Given the description of an element on the screen output the (x, y) to click on. 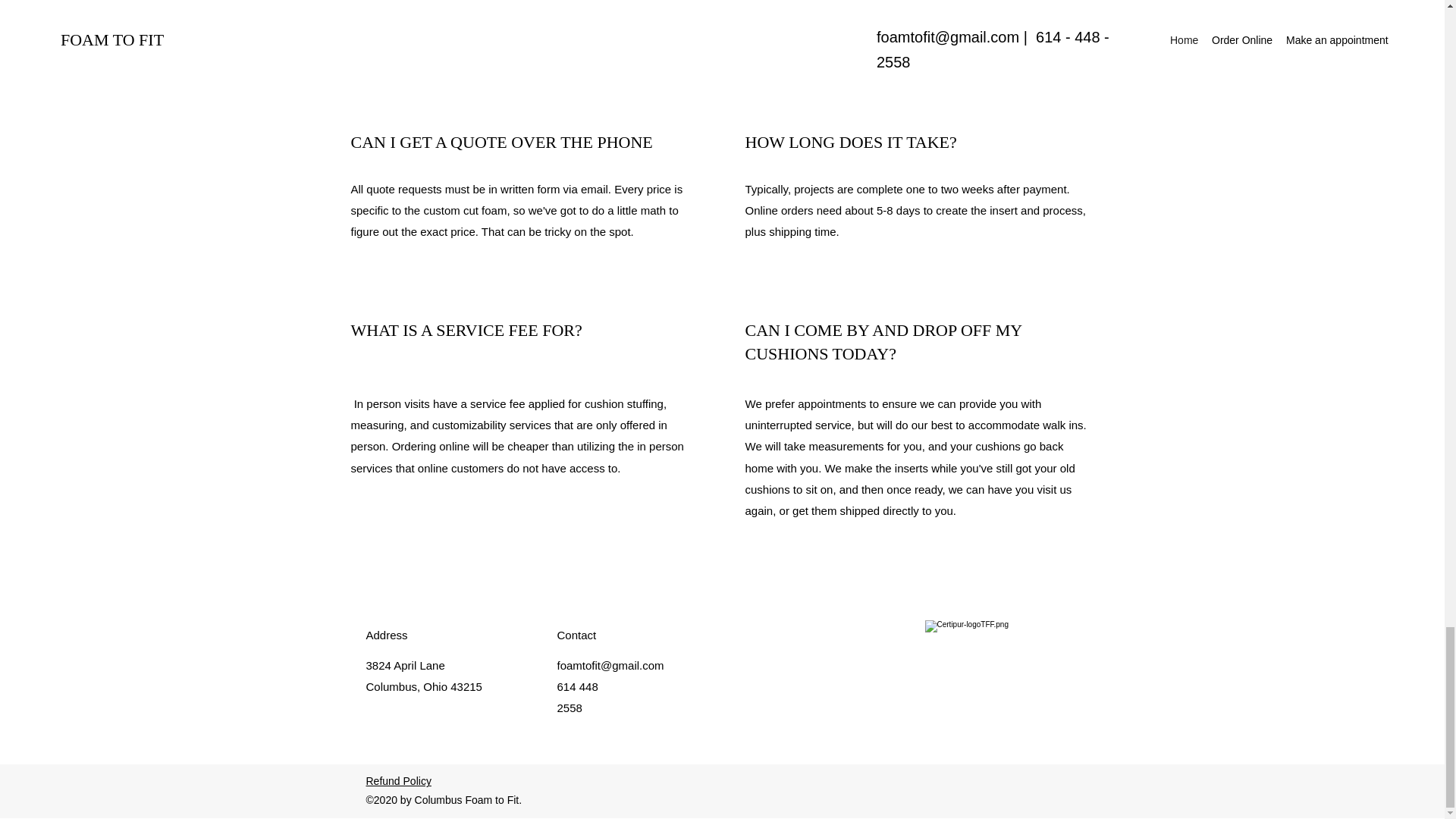
Refund Policy (397, 780)
